Given the description of an element on the screen output the (x, y) to click on. 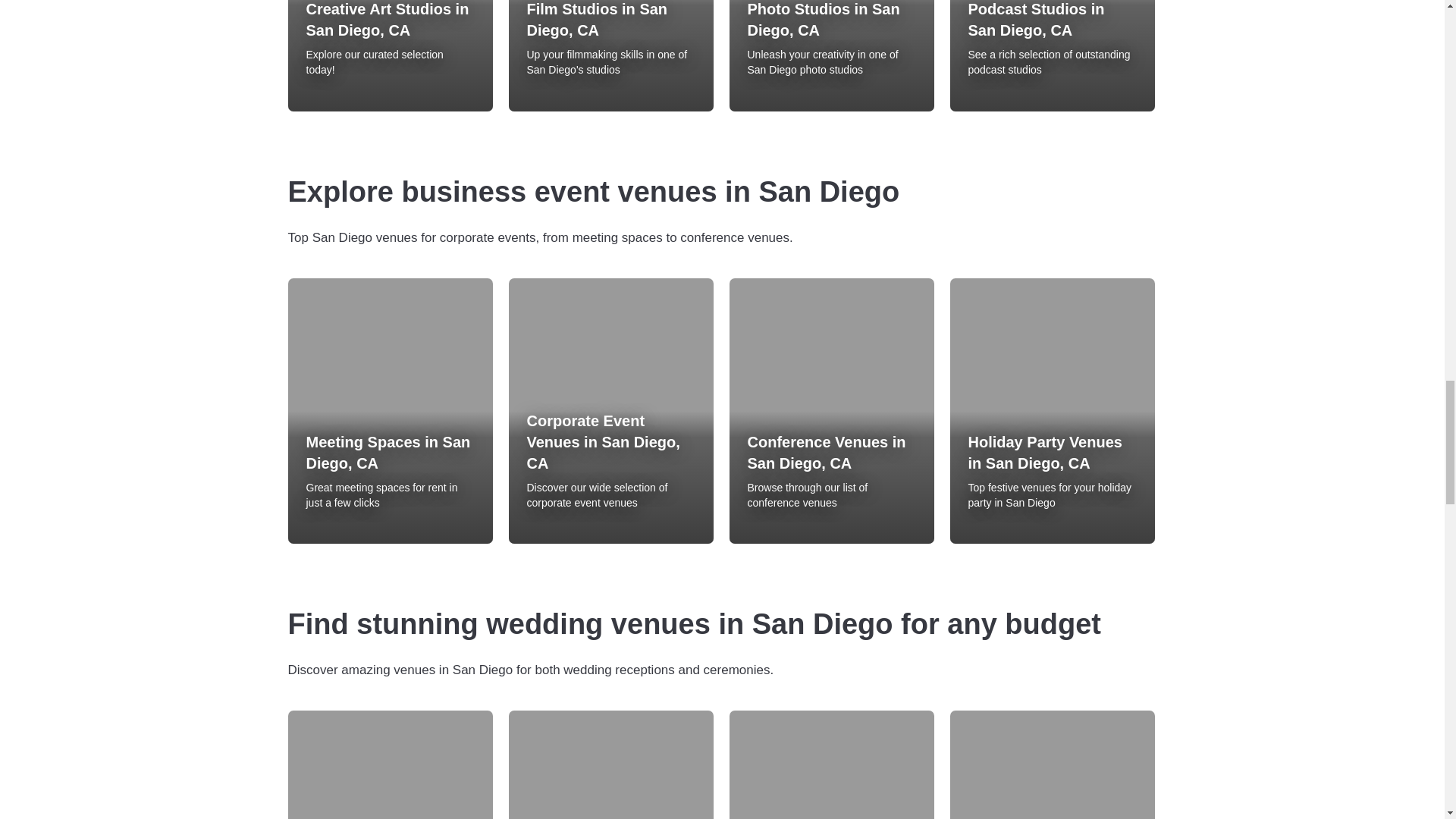
Creative Art Studios in San Diego, CA (389, 20)
Photo Studios in San Diego, CA (831, 20)
Corporate Event Venues in San Diego, CA (609, 442)
Film Studios in San Diego, CA (609, 20)
Conference Venues in San Diego, CA (831, 452)
Holiday Party Venues in San Diego, CA (1051, 452)
Podcast Studios in San Diego, CA (1051, 20)
Meeting Spaces in San Diego, CA (389, 452)
